Given the description of an element on the screen output the (x, y) to click on. 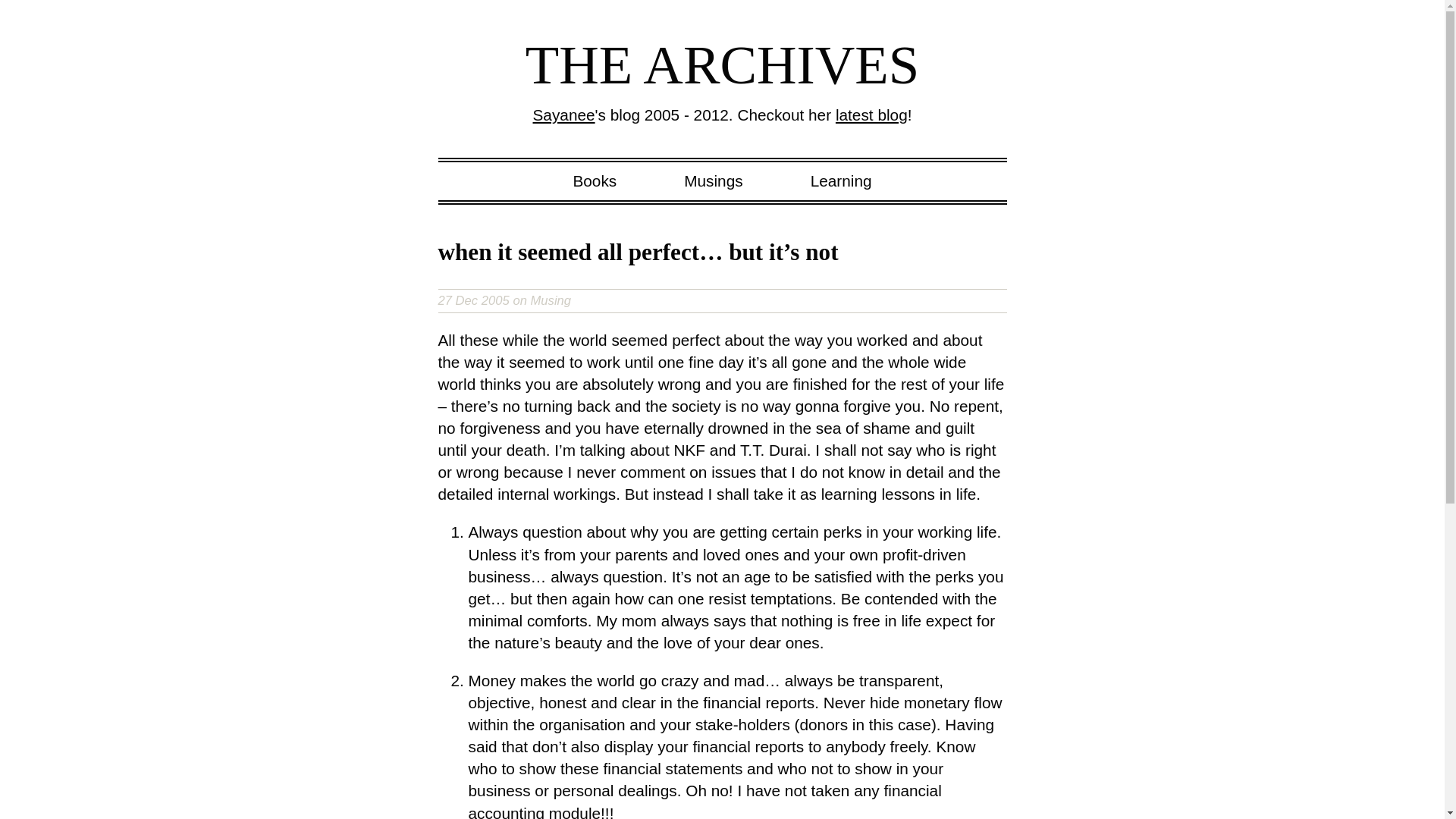
THE ARCHIVES (722, 64)
Musings (713, 180)
Sayanee (563, 114)
latest blog (871, 114)
Learning (841, 180)
Books (593, 180)
